Given the description of an element on the screen output the (x, y) to click on. 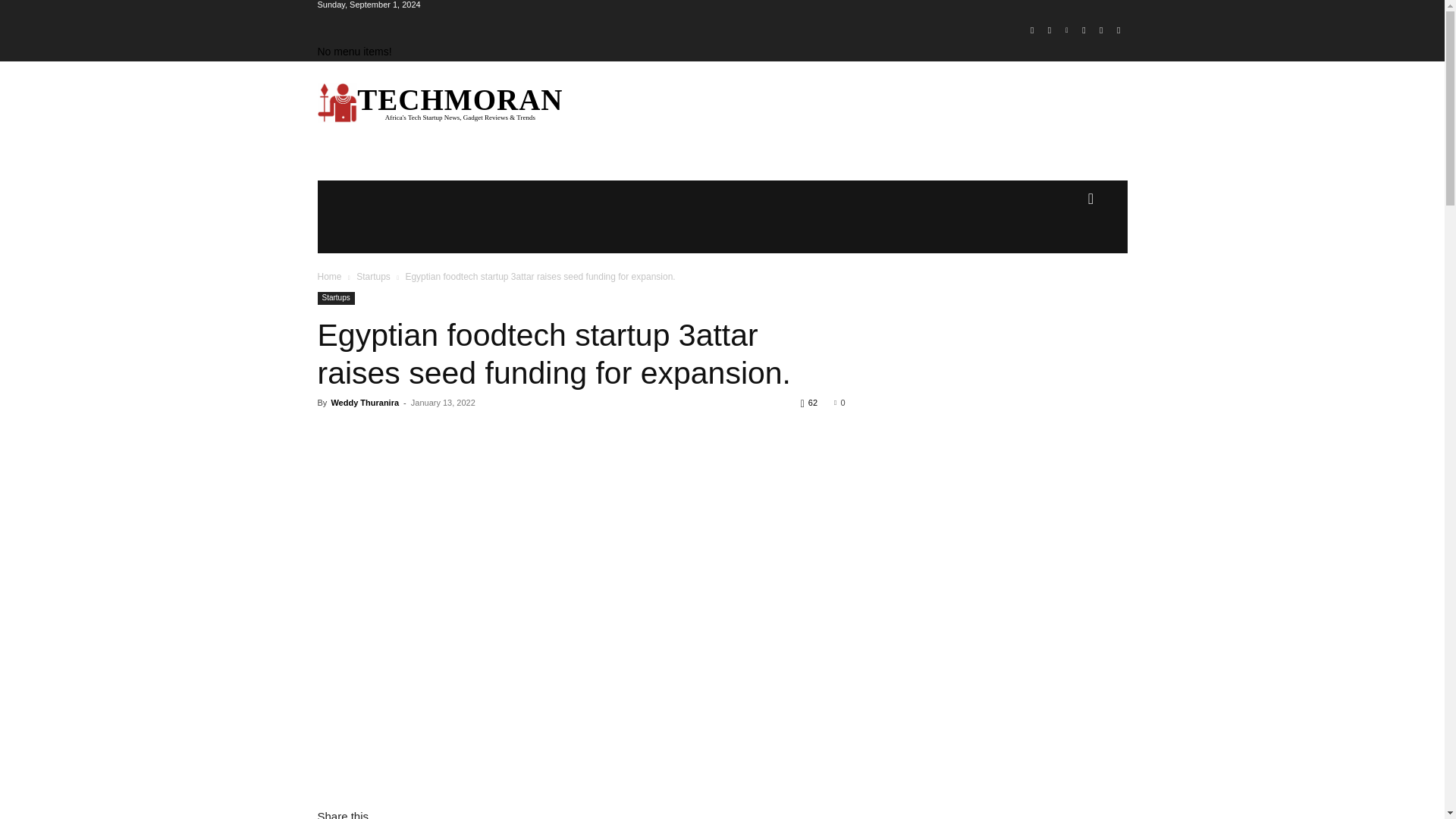
Instagram (1049, 30)
Twitter (1101, 30)
Linkedin (1066, 30)
View all posts in Startups (373, 276)
Facebook (1032, 30)
Telegram (1084, 30)
Youtube (1117, 30)
